Given the description of an element on the screen output the (x, y) to click on. 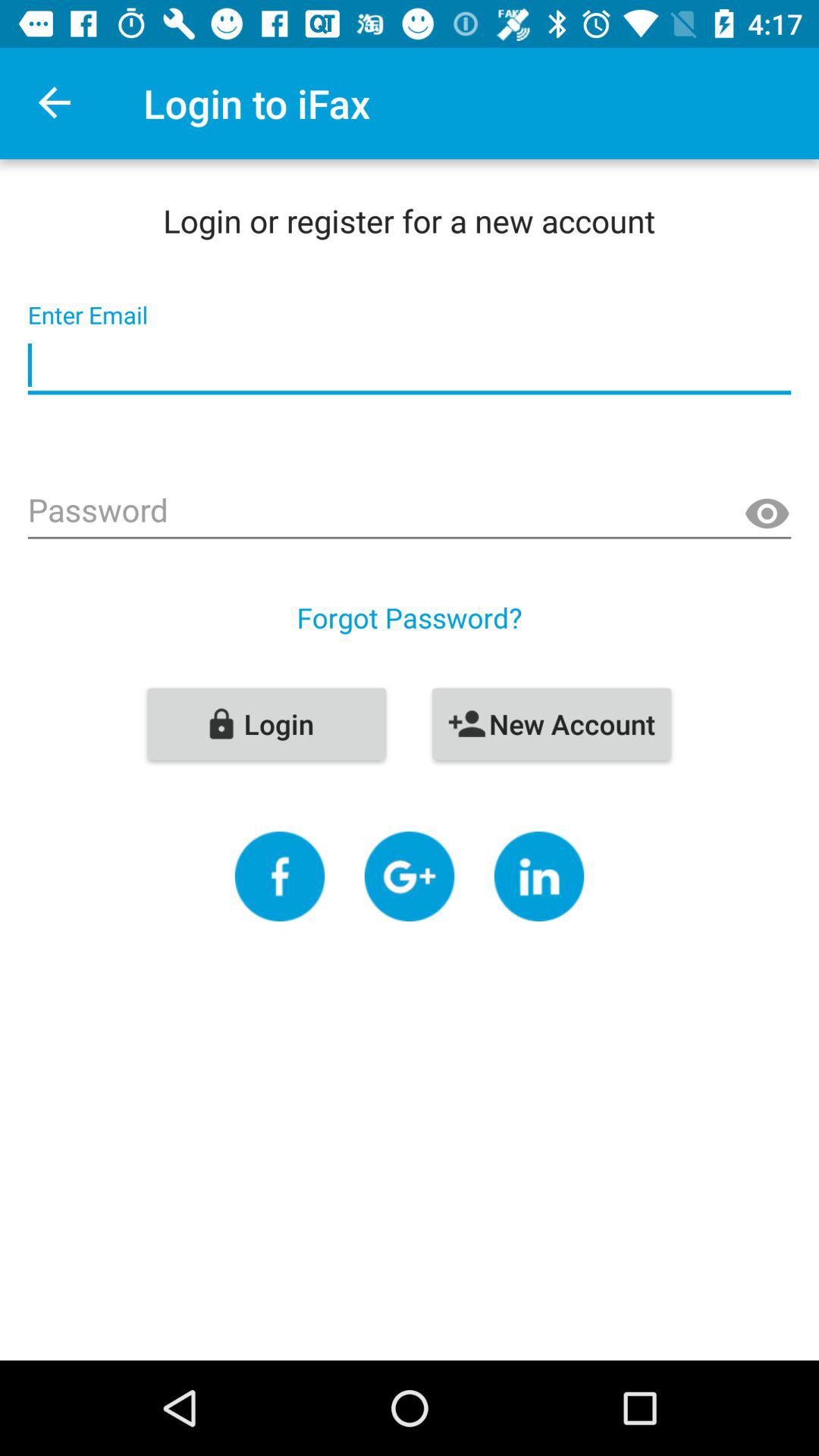
share to social media (279, 876)
